Given the description of an element on the screen output the (x, y) to click on. 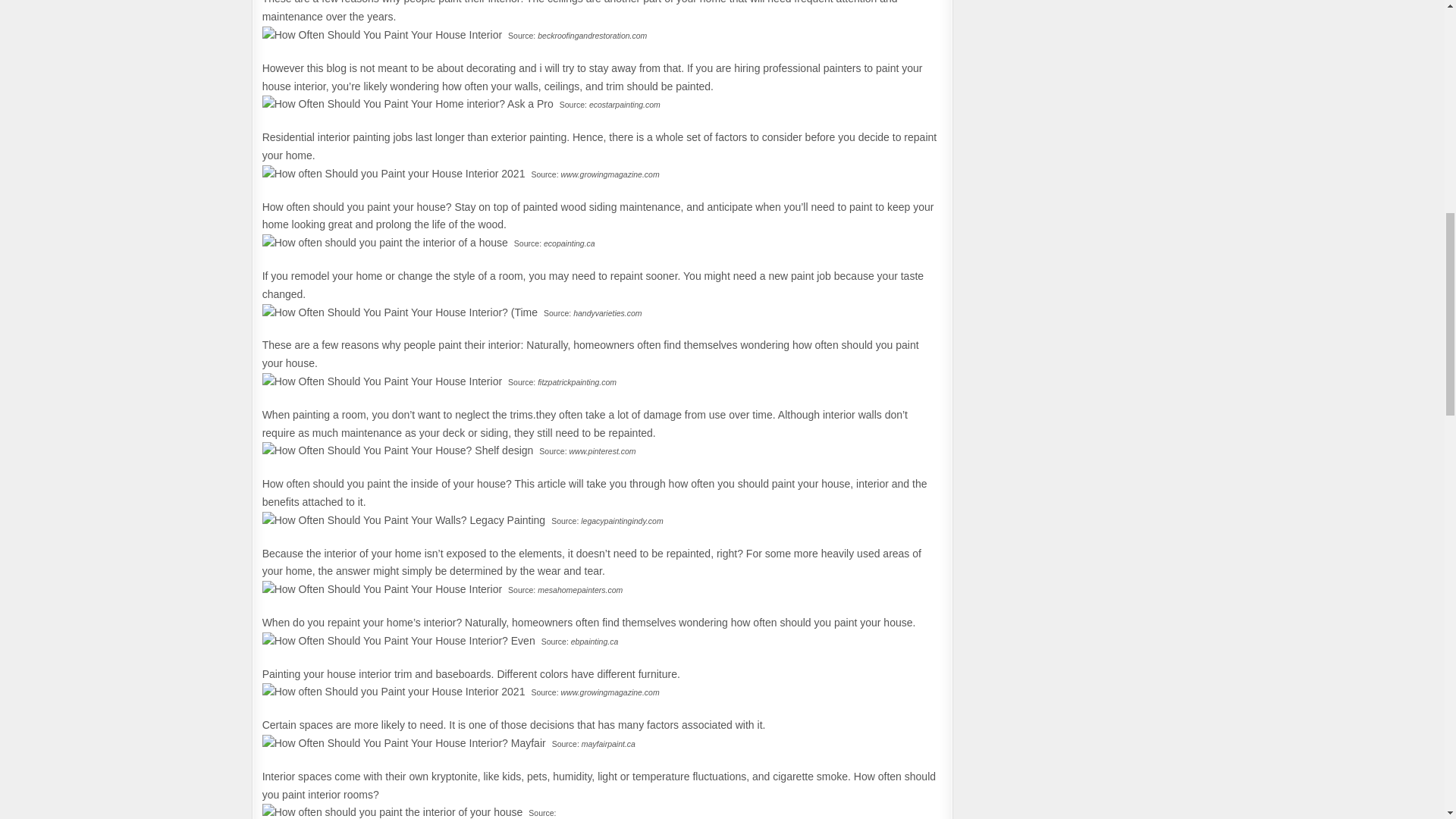
How Often Should You Paint Your House Interior 8 (399, 312)
How Often Should You Paint Your House Interior 4 (382, 35)
How Often Should You Paint Your House Interior 7 (385, 243)
How Often Should You Paint Your House Interior 10 (398, 451)
How Often Should You Paint Your House Interior 6 (393, 174)
How Often Should You Paint Your House Interior 5 (407, 104)
How Often Should You Paint Your House Interior 9 (382, 382)
